Given the description of an element on the screen output the (x, y) to click on. 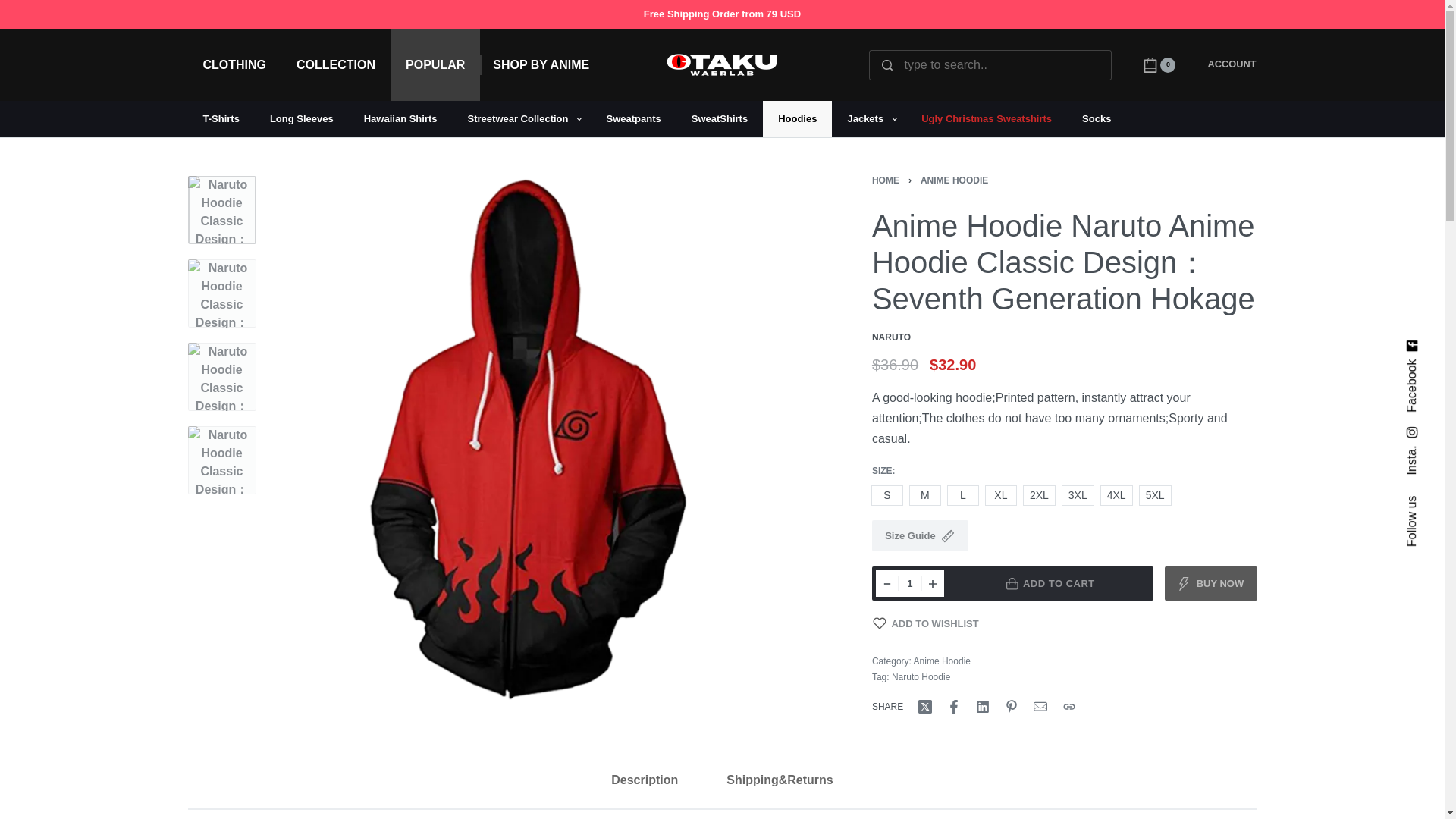
Hoodies (796, 118)
Hawaiian Shirts (400, 118)
1 (909, 583)
COLLECTION (335, 64)
Ugly Christmas Sweatshirts (986, 118)
T-Shirts (220, 118)
L (962, 495)
M (925, 495)
2XL (1038, 495)
POPULAR (435, 64)
S (887, 495)
XL (1000, 495)
SweatShirts (719, 118)
0 (1158, 64)
ACCOUNT (1231, 64)
